Given the description of an element on the screen output the (x, y) to click on. 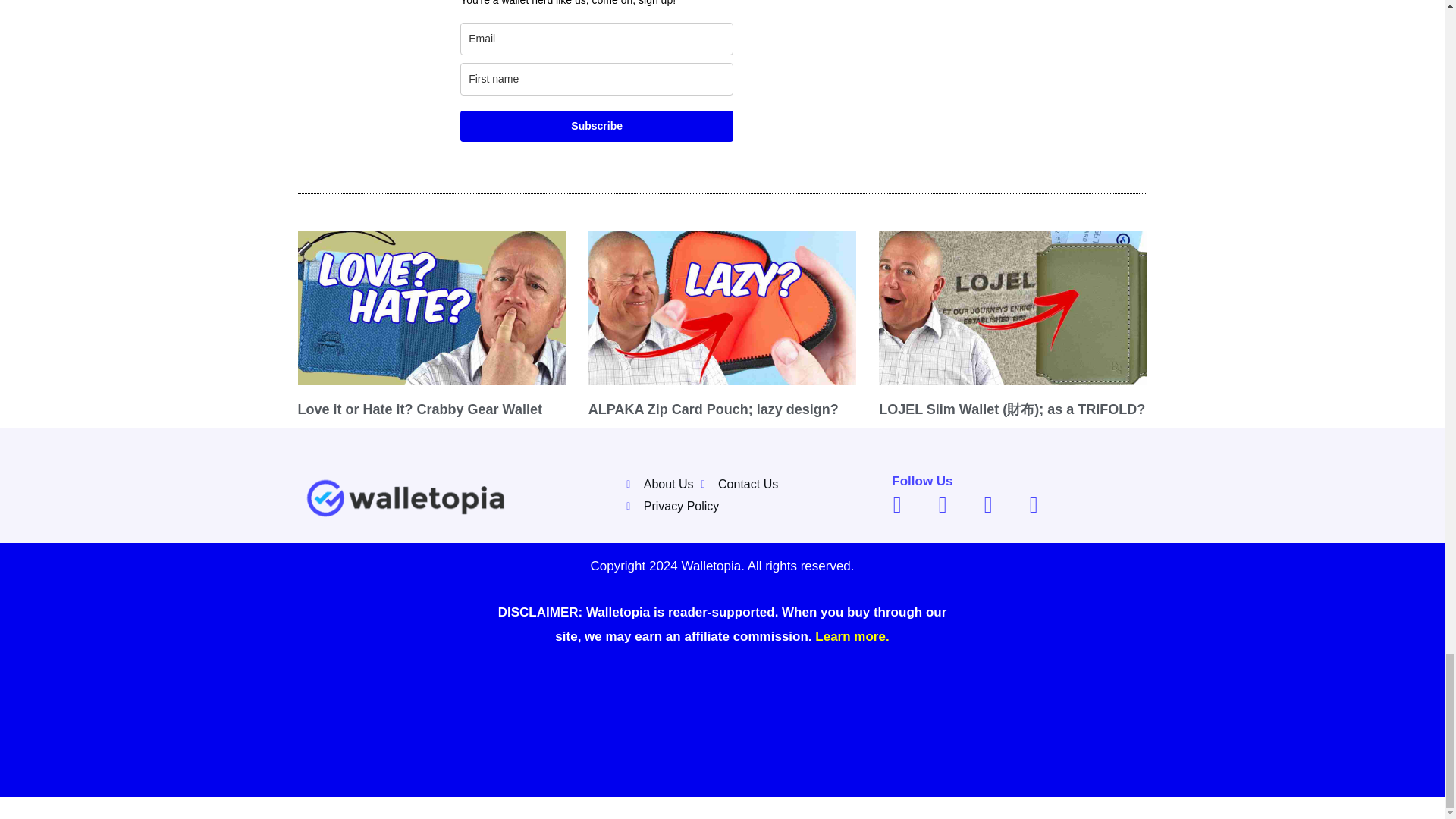
DMCA.com Protection Status (722, 716)
Subscribe (596, 125)
